Given the description of an element on the screen output the (x, y) to click on. 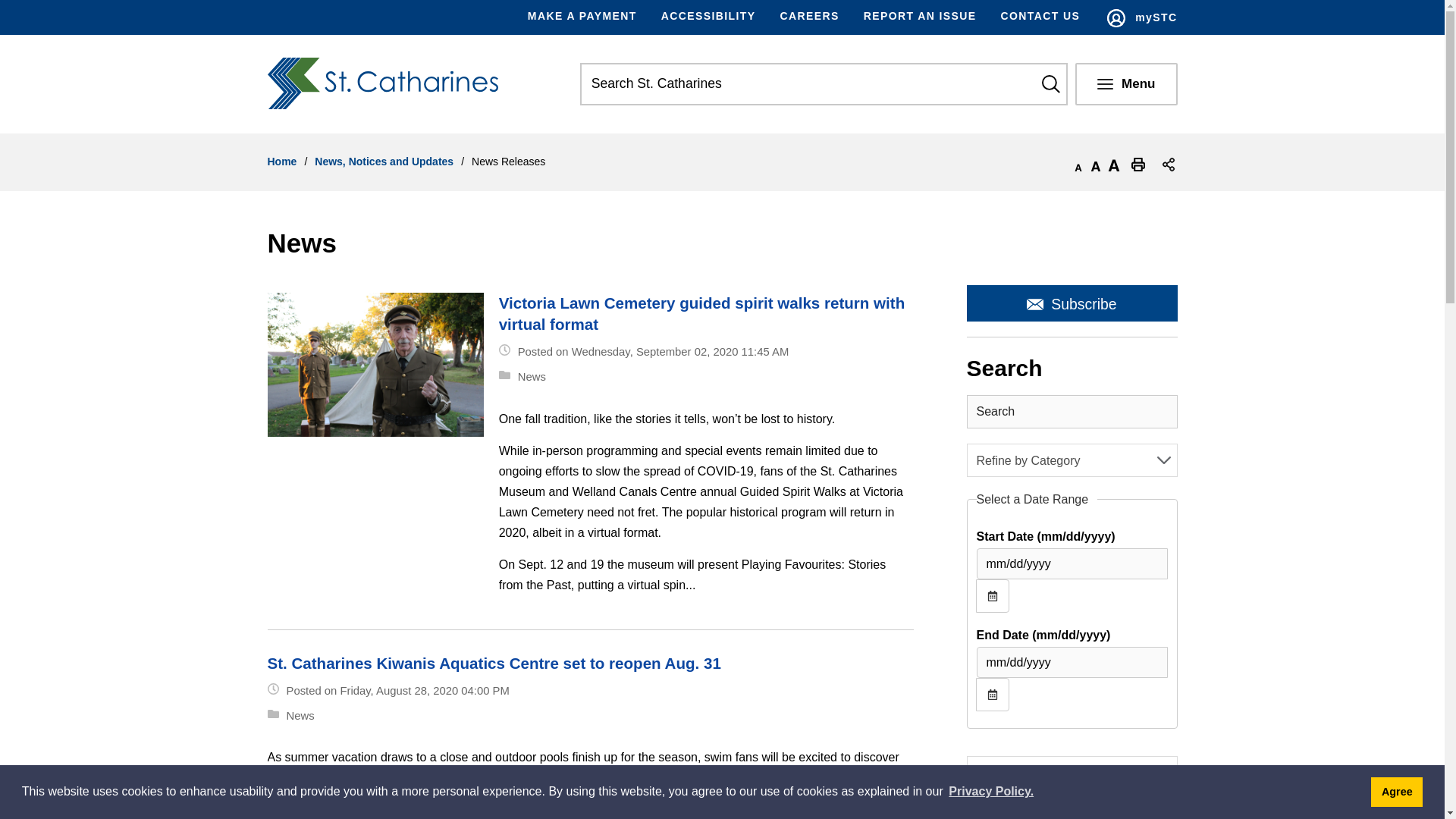
View our Contact Us page (1040, 16)
ACCESSIBILITY (708, 16)
MAKE A PAYMENT (588, 16)
View our mySTC Portal page (1141, 18)
View our Accessibility page (708, 16)
mySTC (1141, 18)
Agree (1396, 791)
CAREERS (808, 16)
REPORT AN ISSUE (919, 16)
CONTACT US (1040, 16)
Privacy Policy. (990, 791)
View our Careers page (808, 16)
Report an Issue (919, 16)
Click to return to the homepage (387, 82)
